Given the description of an element on the screen output the (x, y) to click on. 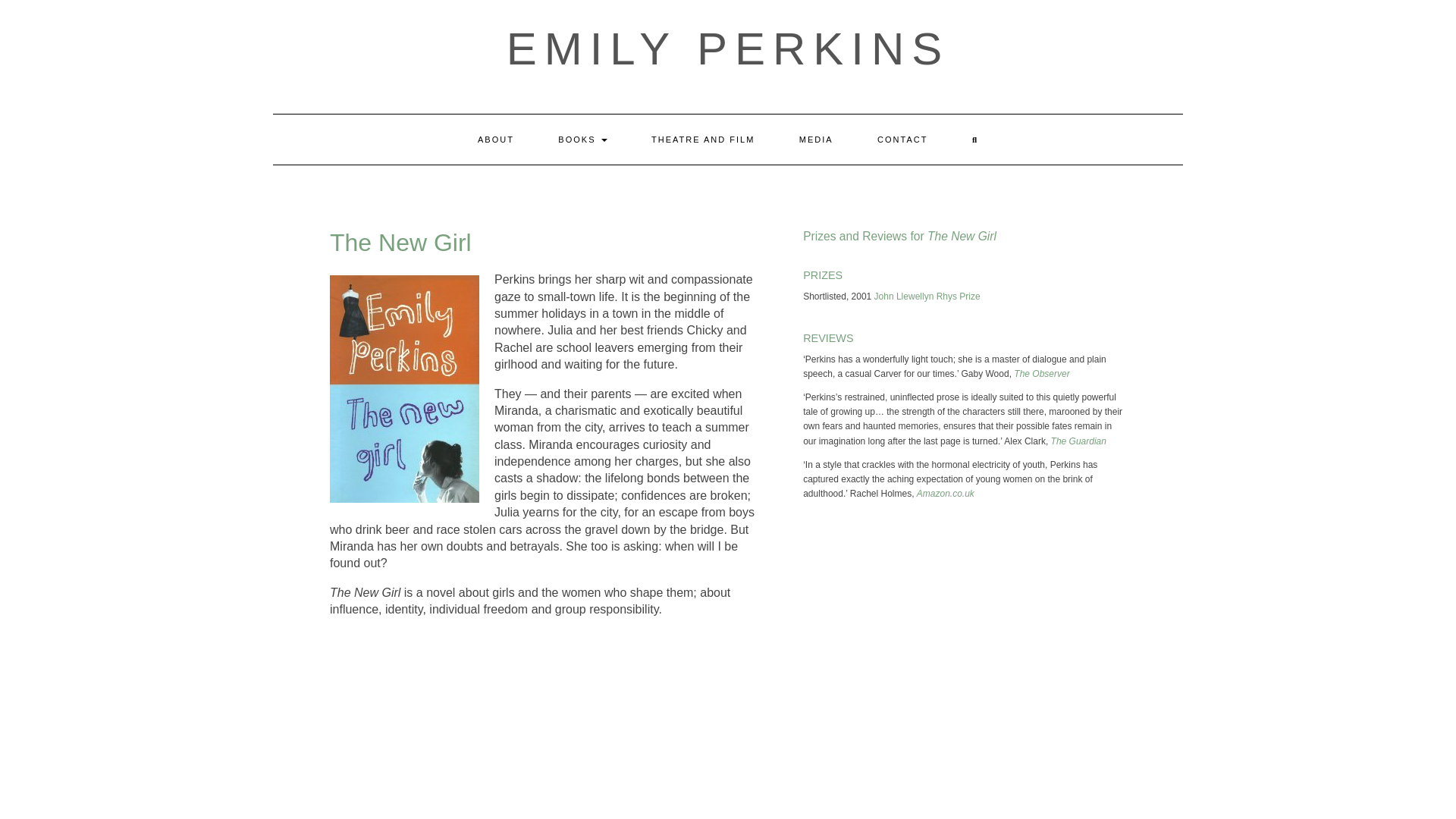
ABOUT (495, 139)
Observer review TNG (1040, 373)
BOOKS (582, 139)
The Guardian (1078, 440)
John Llewellyn Rhys Prize (927, 296)
EMILY PERKINS (728, 48)
JLR shortlist (927, 296)
Amazon.co.uk (945, 493)
CONTACT (902, 139)
THEATRE AND FILM (702, 139)
The Observer (1040, 373)
Amazon TNG (945, 493)
MEDIA (815, 139)
Guardian TNG (1078, 440)
